Given the description of an element on the screen output the (x, y) to click on. 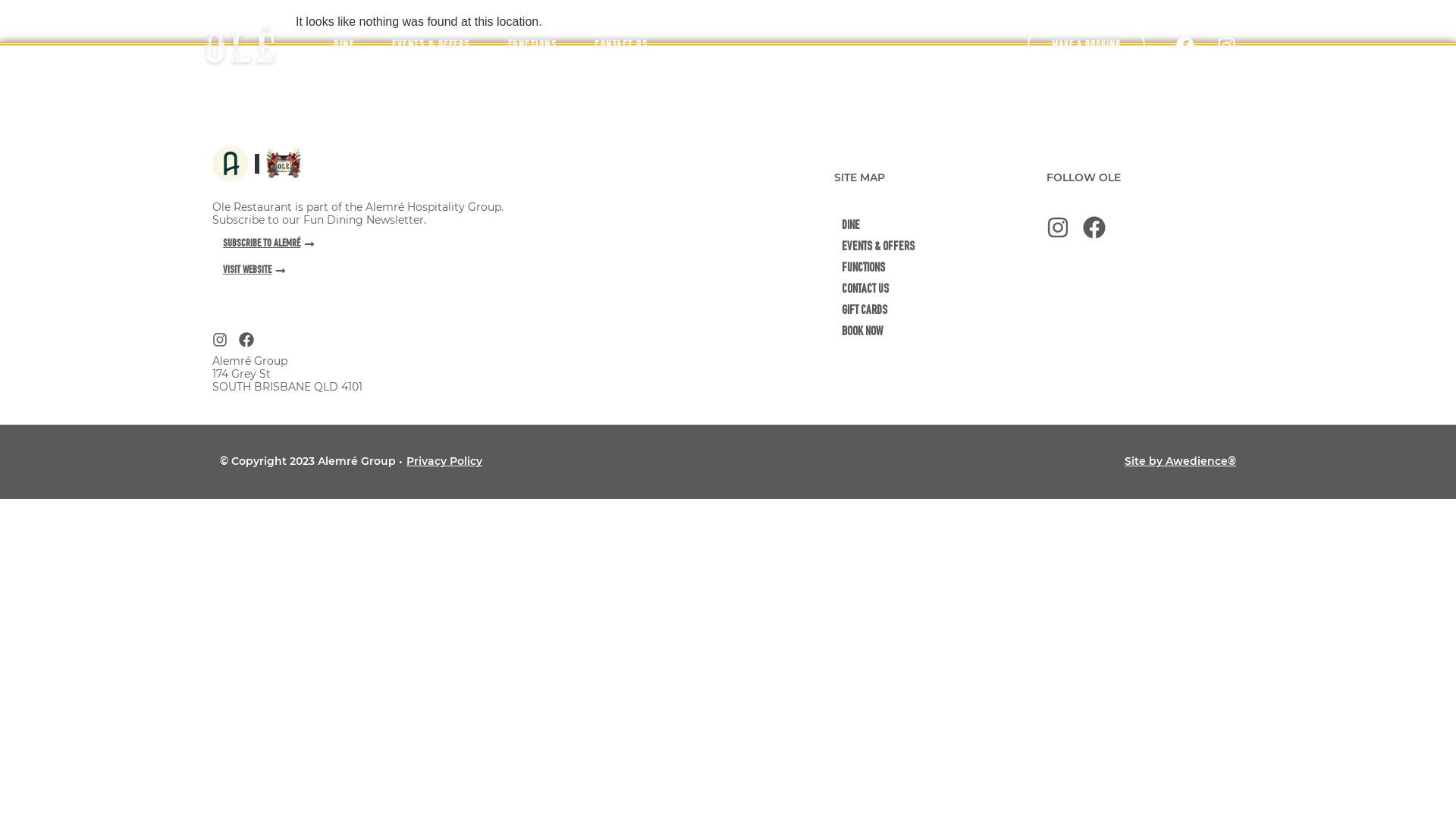
Functions Element type: text (939, 268)
DINE Element type: text (343, 45)
Contact Us Element type: text (939, 290)
EVENTS & OFFERS Element type: text (430, 45)
Privacy Policy Element type: text (444, 460)
MAKE A BOOKING Element type: text (1086, 45)
Book Now Element type: text (939, 332)
CONTACT US Element type: text (620, 45)
FUNCTIONS Element type: text (532, 45)
Dine Element type: text (939, 226)
Gift Cards Element type: text (939, 311)
Events & Offers Element type: text (939, 247)
VISIT WEBSITE Element type: text (248, 272)
